Given the description of an element on the screen output the (x, y) to click on. 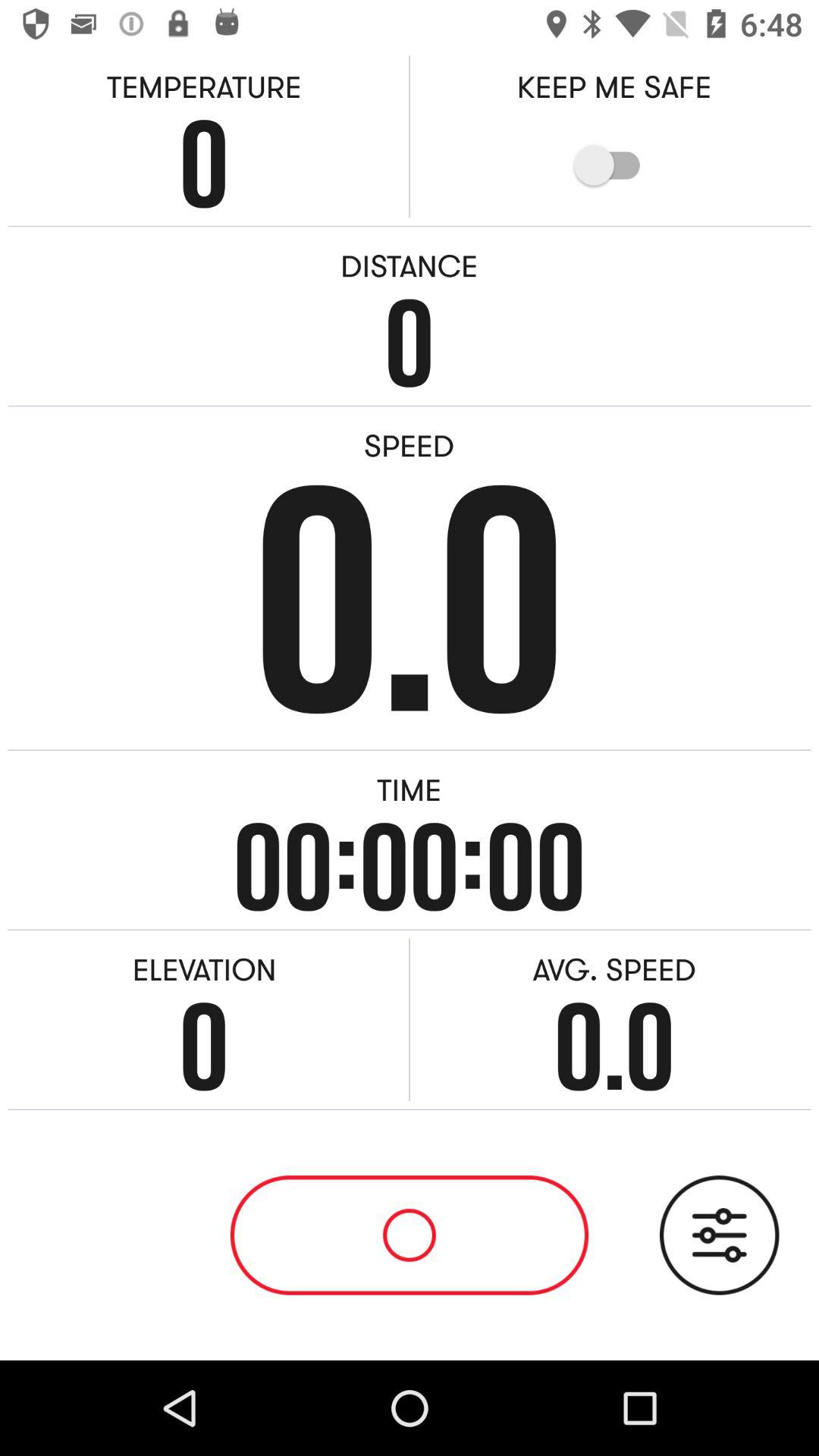
app settings (719, 1235)
